Given the description of an element on the screen output the (x, y) to click on. 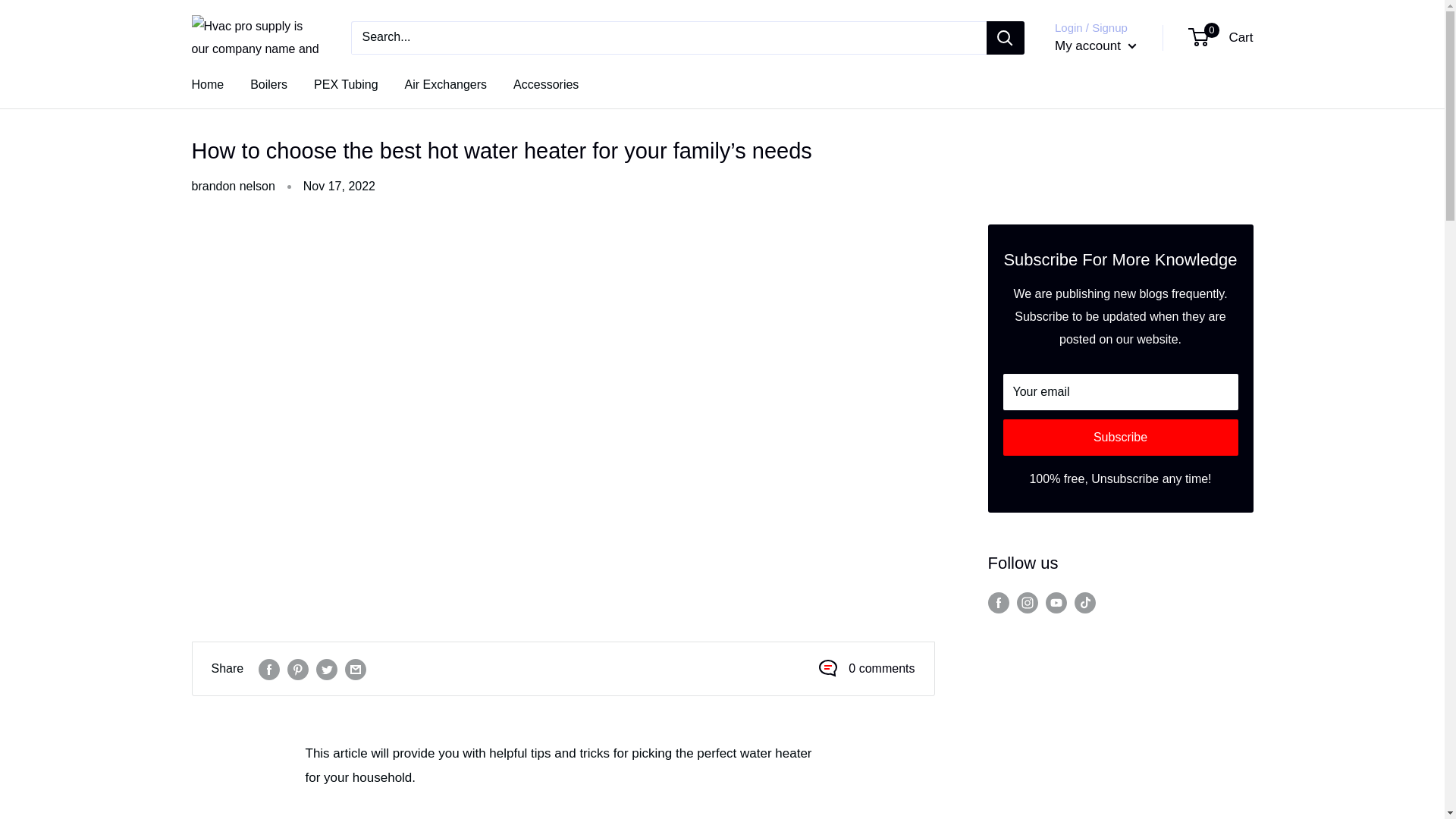
My account (1095, 46)
0 comments (881, 668)
Accessories (545, 83)
PEX Tubing (346, 83)
Boilers (268, 83)
Home (207, 83)
HvacProSupply.com (255, 37)
Air Exchangers (1221, 37)
